Given the description of an element on the screen output the (x, y) to click on. 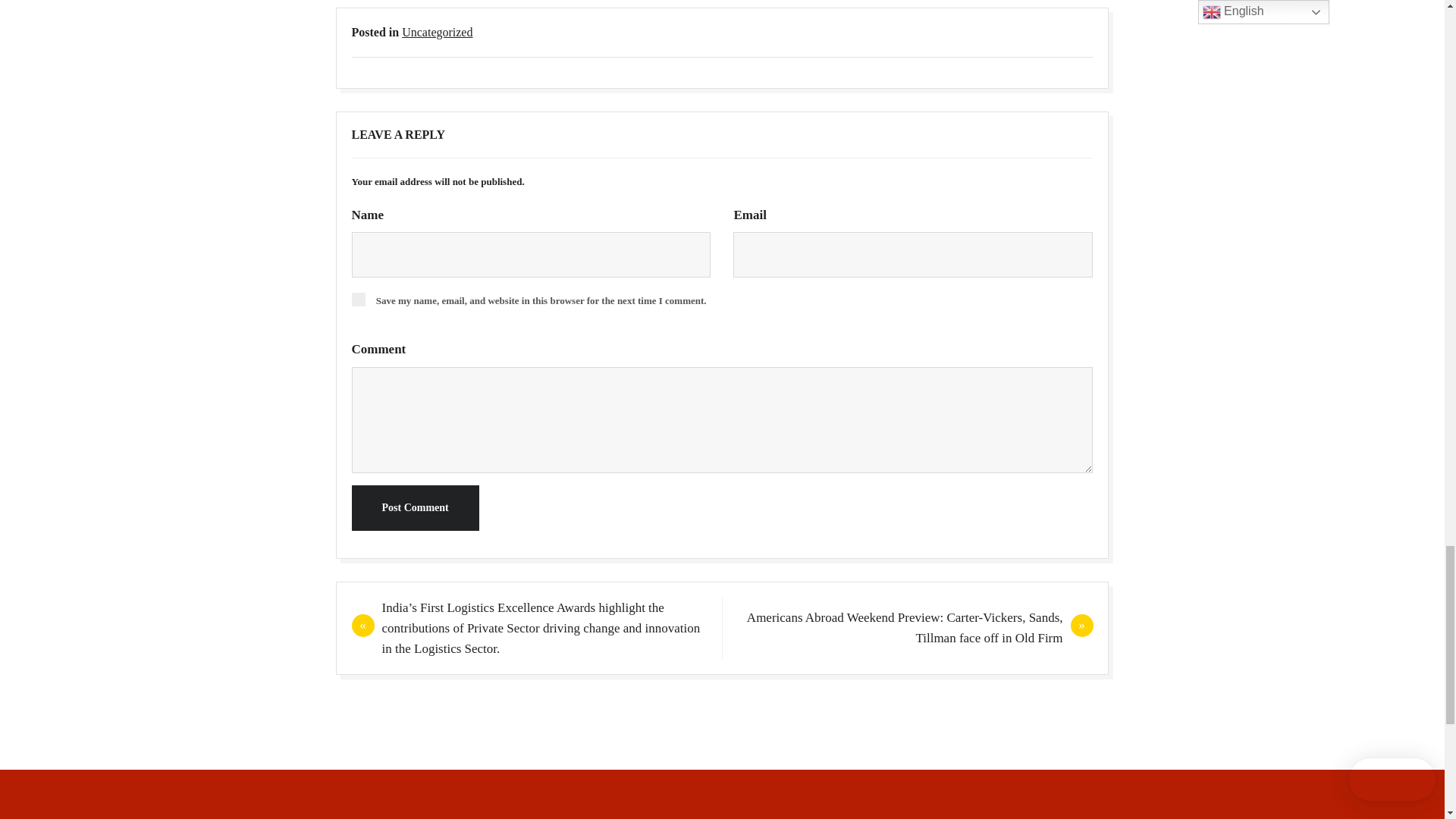
yes (358, 299)
